Given the description of an element on the screen output the (x, y) to click on. 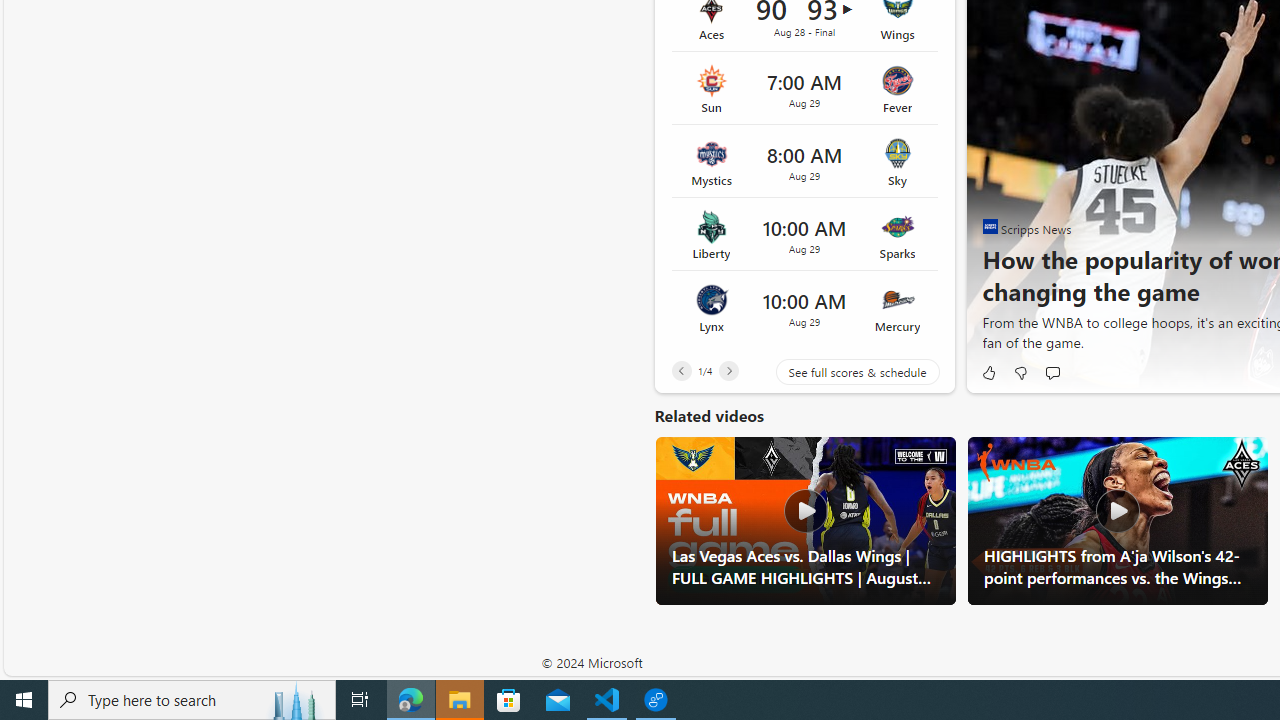
Class: around-the-league-card (804, 307)
Liberty vs Sparks Time 10:00 AM Date Aug 29 (804, 235)
Like (987, 372)
Lynx vs Mercury Time 10:00 AM Date Aug 29 (804, 307)
Mystics vs Sky Time 8:00 AM Date Aug 29 (804, 161)
Scripps News (989, 226)
Sun vs Fever Time 7:00 AM Date Aug 29 (804, 88)
Next (728, 370)
Previous (681, 370)
